Given the description of an element on the screen output the (x, y) to click on. 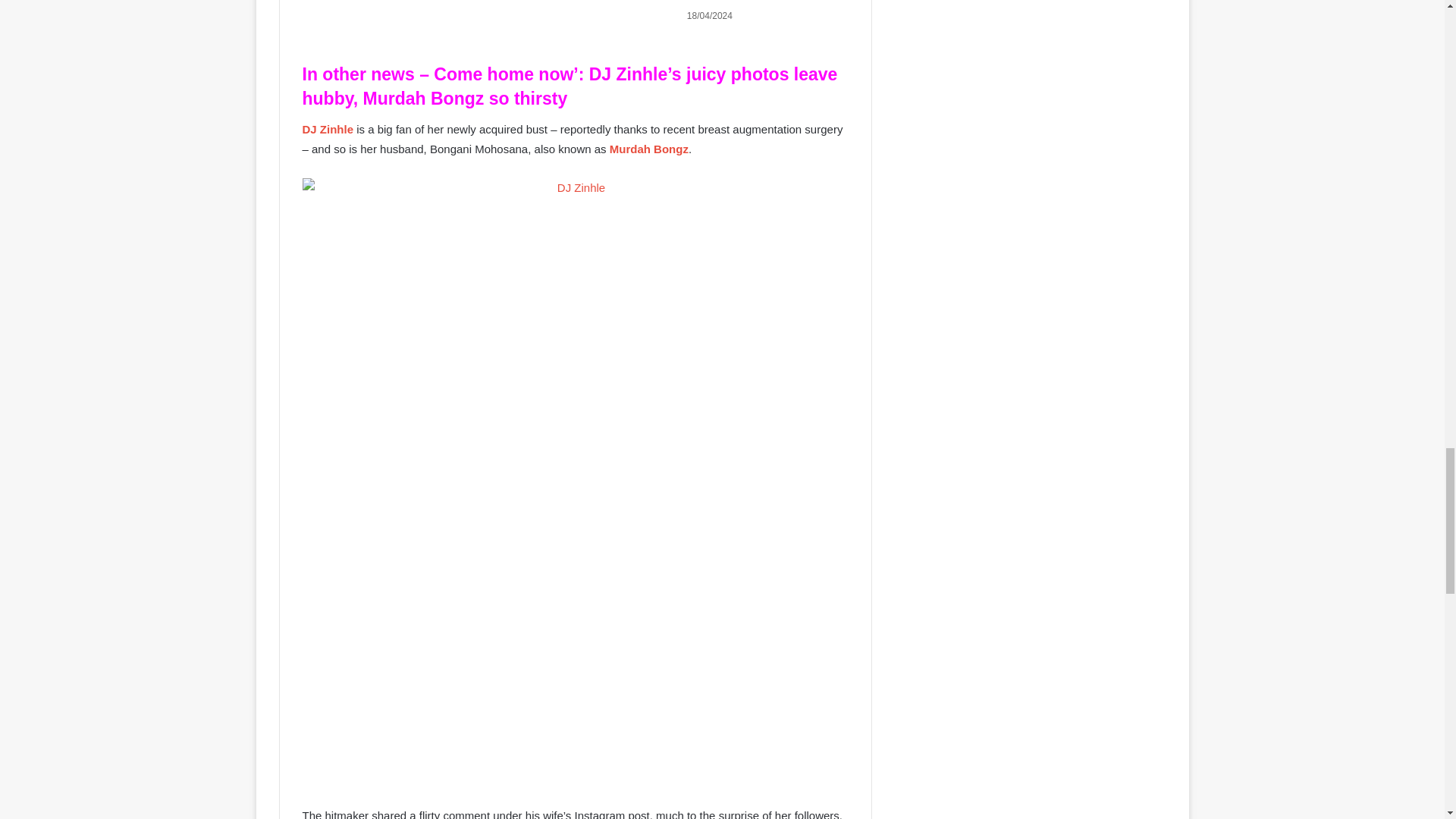
DJ Zinhle (327, 128)
Murdah Bongz (649, 148)
